Given the description of an element on the screen output the (x, y) to click on. 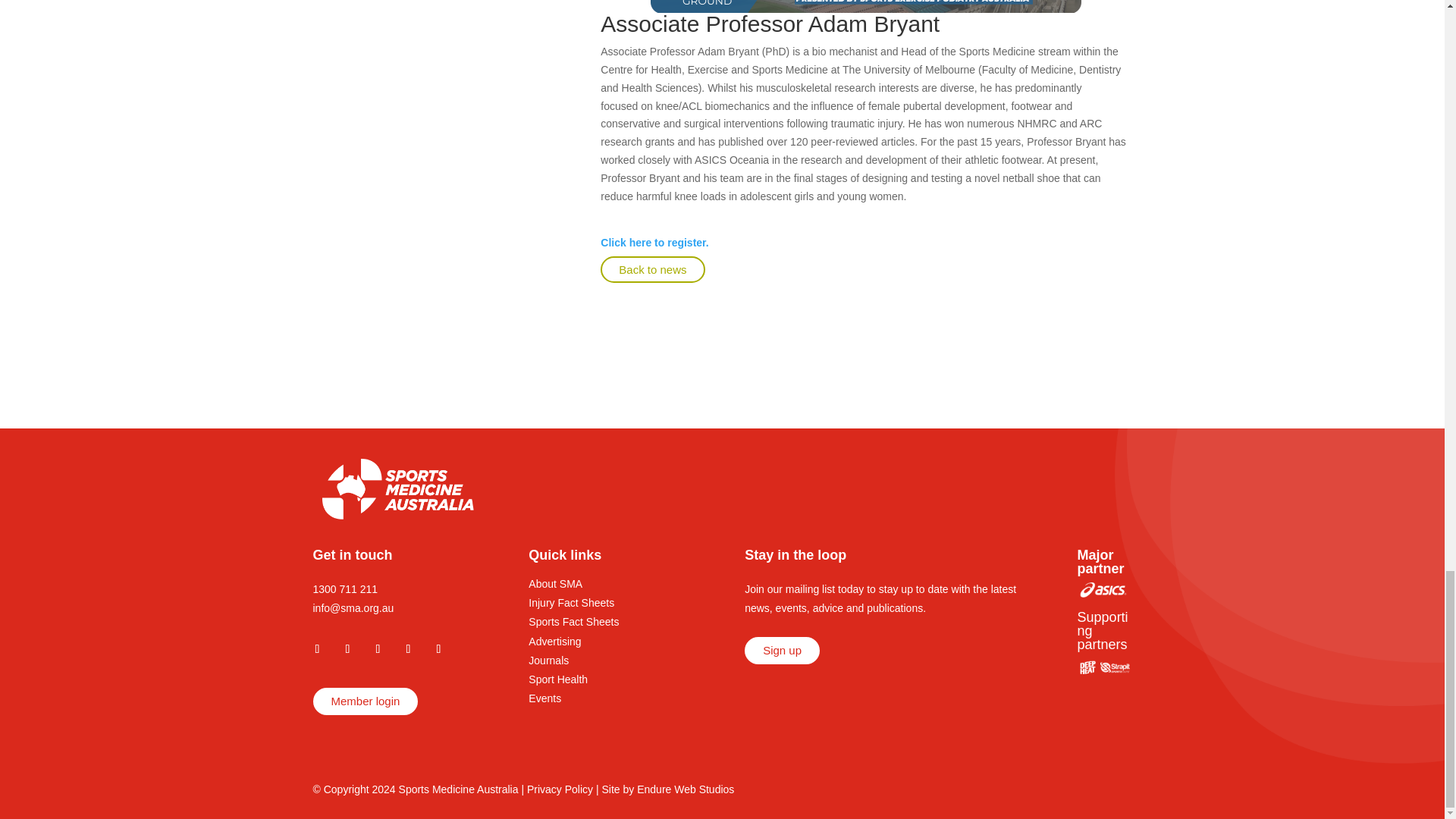
Follow on X (377, 648)
Follow on Vimeo (437, 648)
Follow on LinkedIn (408, 648)
Follow on Facebook (316, 648)
Sports Medicine Australia Logo (397, 488)
Follow on Instagram (346, 648)
